Given the description of an element on the screen output the (x, y) to click on. 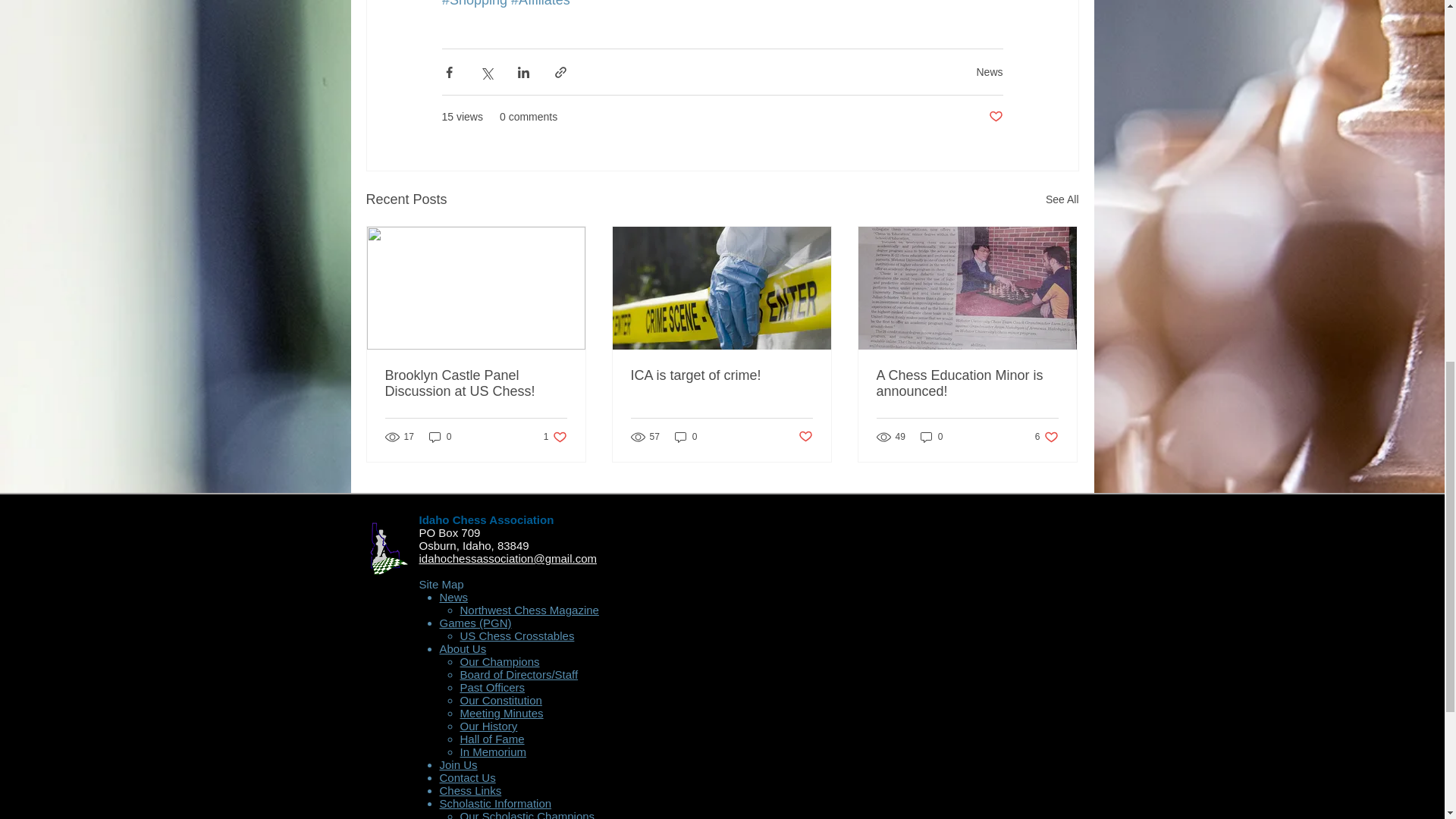
0 (440, 436)
Post not marked as liked (995, 116)
Site Map (441, 584)
0 (931, 436)
Post not marked as liked (804, 437)
Northwest Chess Magazine (529, 609)
A Chess Education Minor is announced! (1046, 436)
0 (967, 383)
See All (685, 436)
